Given the description of an element on the screen output the (x, y) to click on. 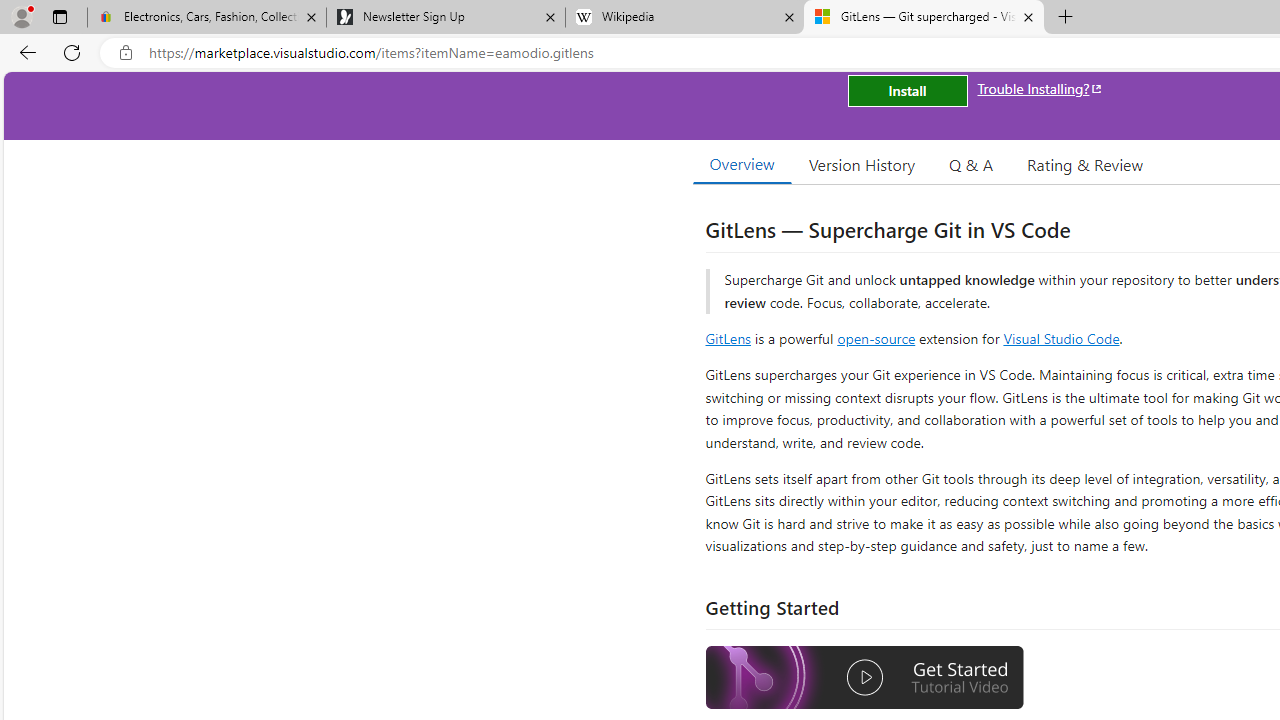
Watch the GitLens Getting Started video (865, 679)
Rating & Review (1084, 164)
open-source (876, 337)
